Given the description of an element on the screen output the (x, y) to click on. 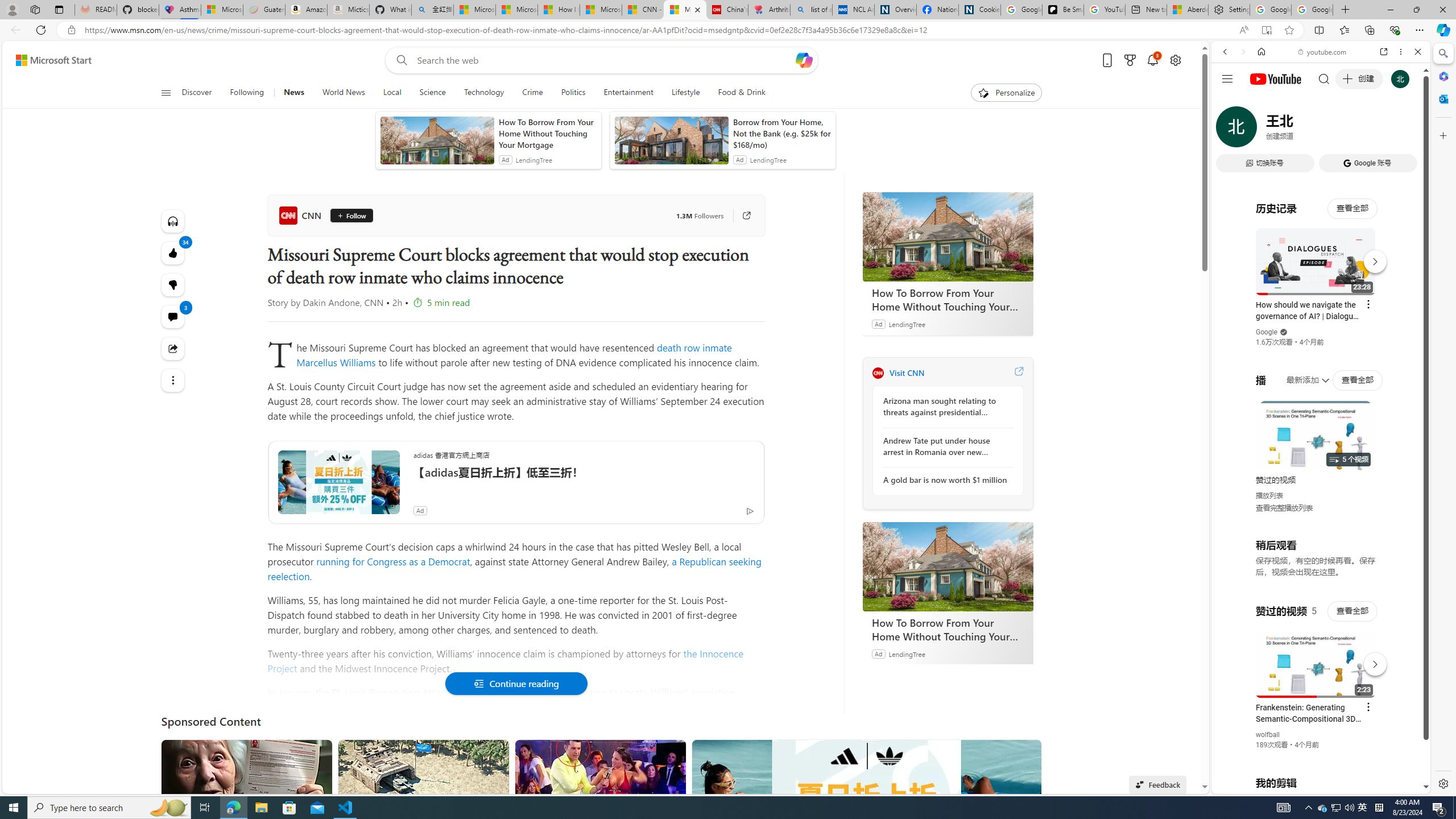
Search (1442, 53)
Skip to content (49, 59)
Forward (1242, 51)
Preferences (1403, 129)
Enter your search term (603, 59)
A gold bar is now worth $1 million (944, 480)
anim-content (671, 144)
Search Filter, Search Tools (1350, 129)
youtube.com (1322, 51)
Asthma Inhalers: Names and Types (179, 9)
